Given the description of an element on the screen output the (x, y) to click on. 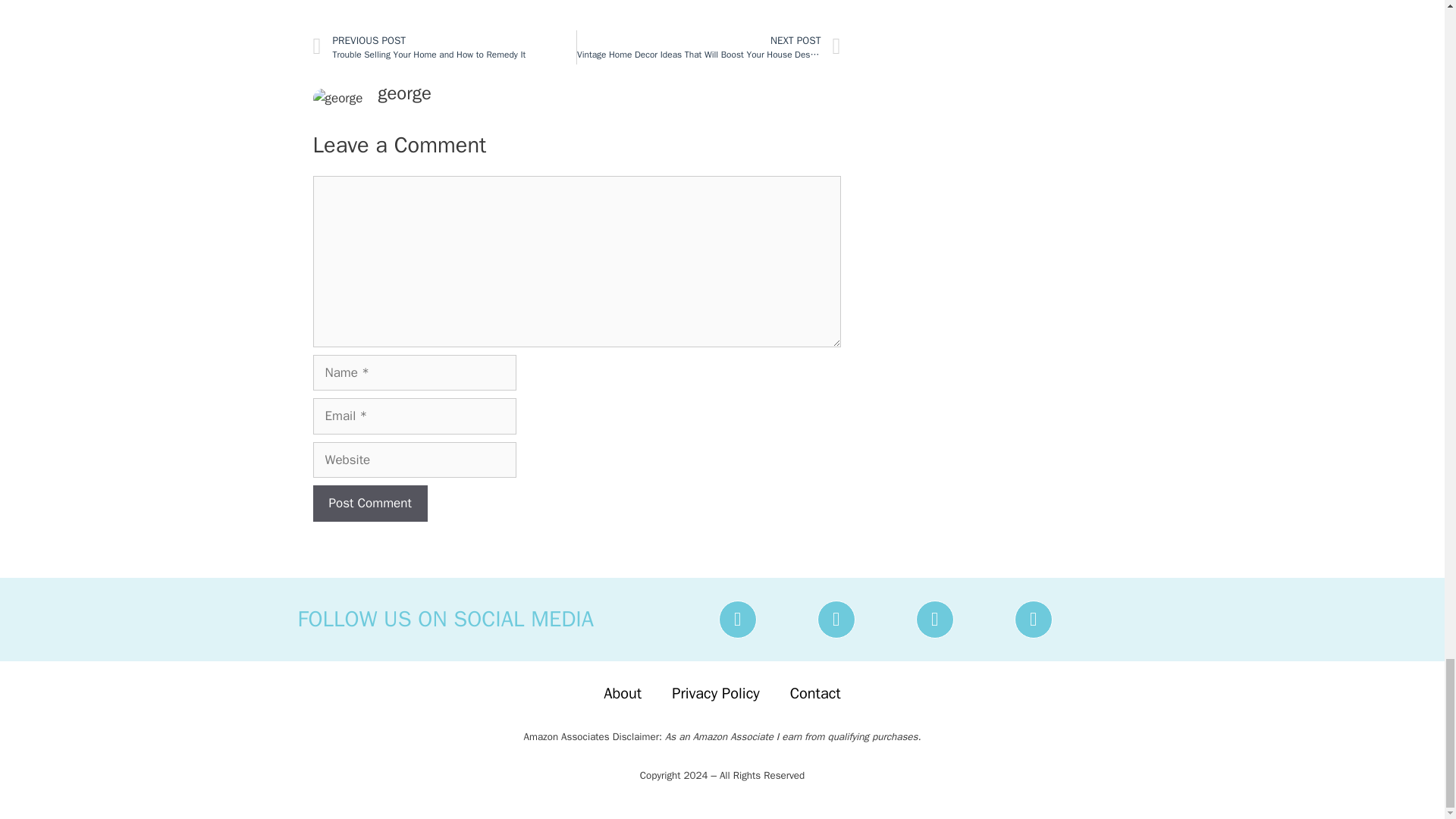
Post Comment (444, 47)
Post Comment (369, 503)
